Given the description of an element on the screen output the (x, y) to click on. 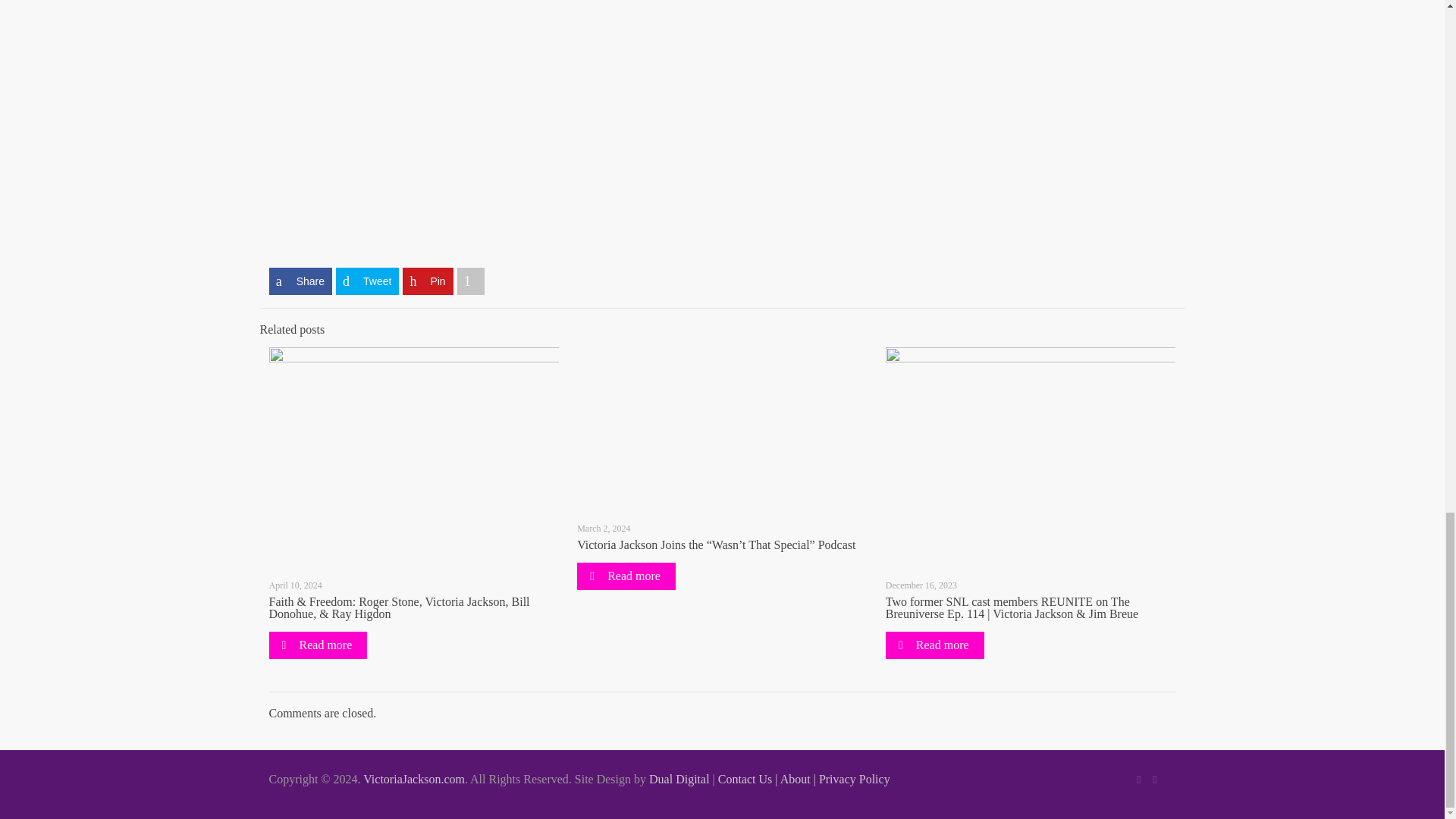
Pin (427, 280)
Share (300, 280)
Tweet (367, 280)
